Given the description of an element on the screen output the (x, y) to click on. 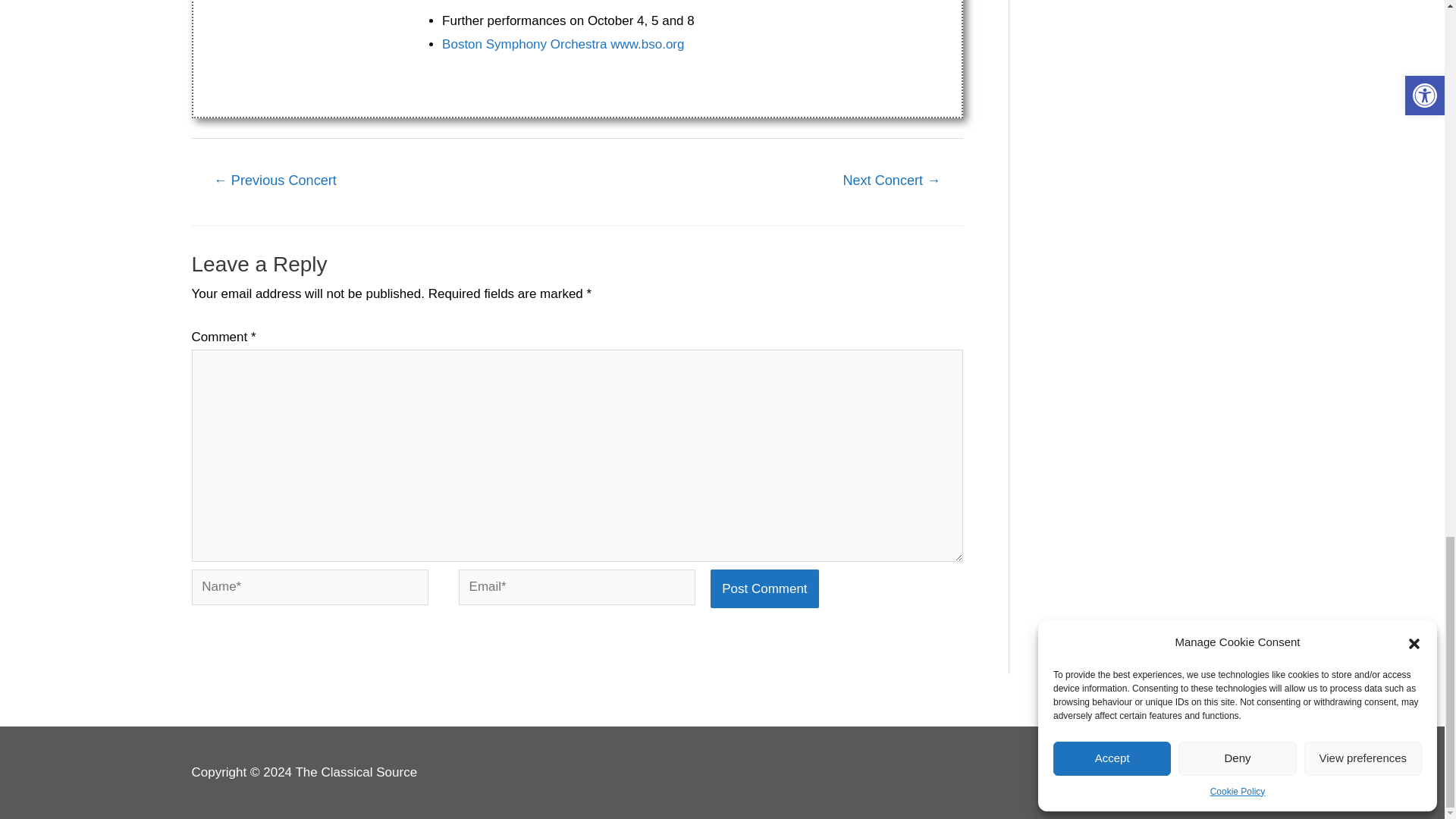
Post Comment (764, 589)
